Given the description of an element on the screen output the (x, y) to click on. 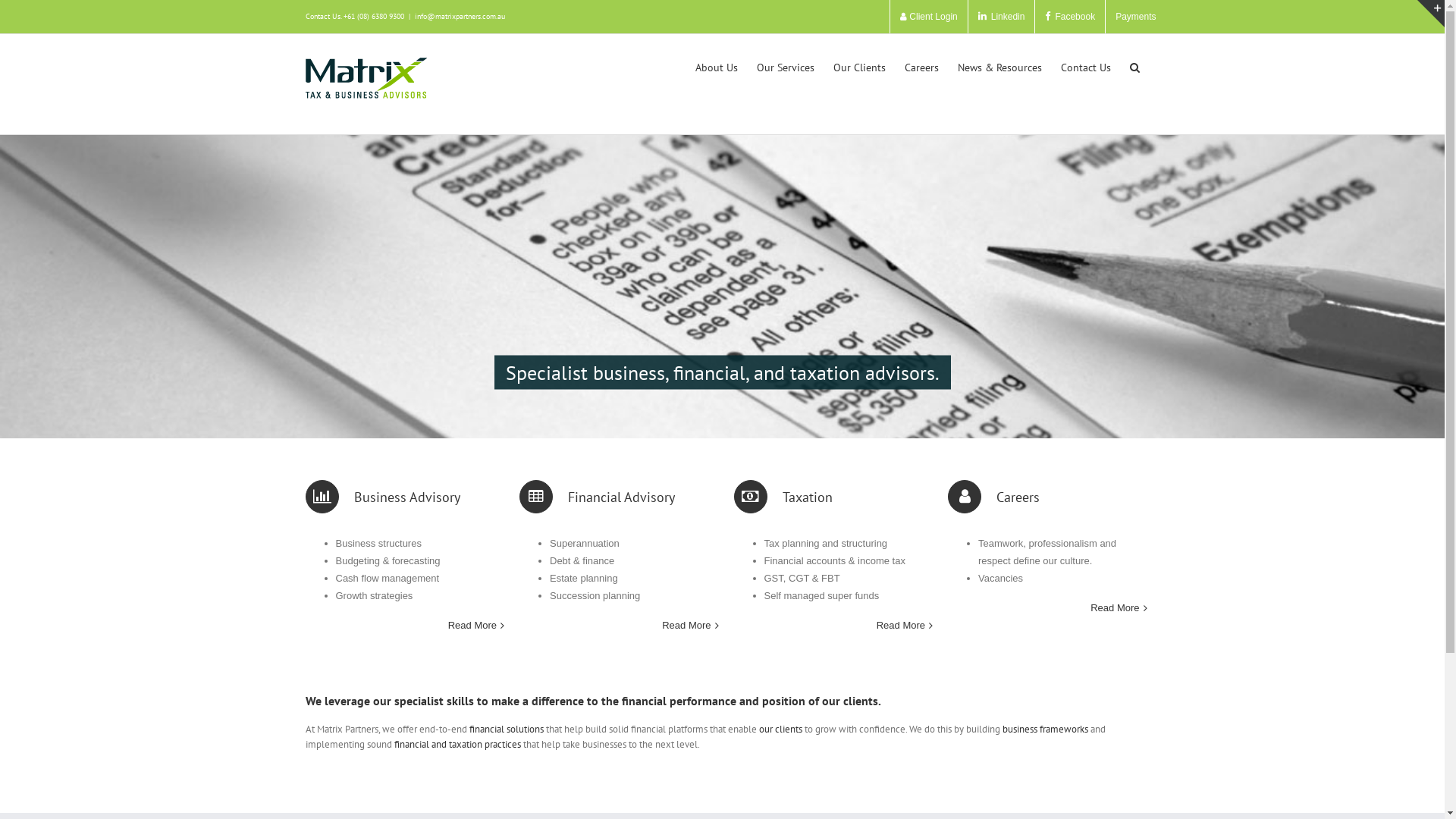
Facebook Element type: text (1074, 16)
business frameworks Element type: text (1045, 728)
Contact Us Element type: text (1085, 66)
 financial and taxation practices Element type: text (455, 743)
Taxation Element type: text (783, 496)
Careers Element type: text (920, 66)
Read More Element type: text (400, 624)
Our Clients Element type: text (858, 66)
Linkedin Element type: text (1008, 16)
Read More Element type: text (829, 624)
financial solutions Element type: text (505, 728)
Client Login Element type: text (928, 16)
Read More Element type: text (1043, 607)
Careers Element type: text (993, 496)
Business Advisory Element type: text (381, 496)
Payments Element type: text (1135, 16)
Search Element type: hover (1134, 66)
our clients Element type: text (779, 728)
Toggle Sliding Bar Area Element type: text (1430, 13)
News & Resources Element type: text (999, 66)
info@matrixpartners.com.au Element type: text (459, 16)
About Us Element type: text (715, 66)
Our Services Element type: text (785, 66)
Read More Element type: text (615, 624)
Financial Advisory Element type: text (596, 496)
